Given the description of an element on the screen output the (x, y) to click on. 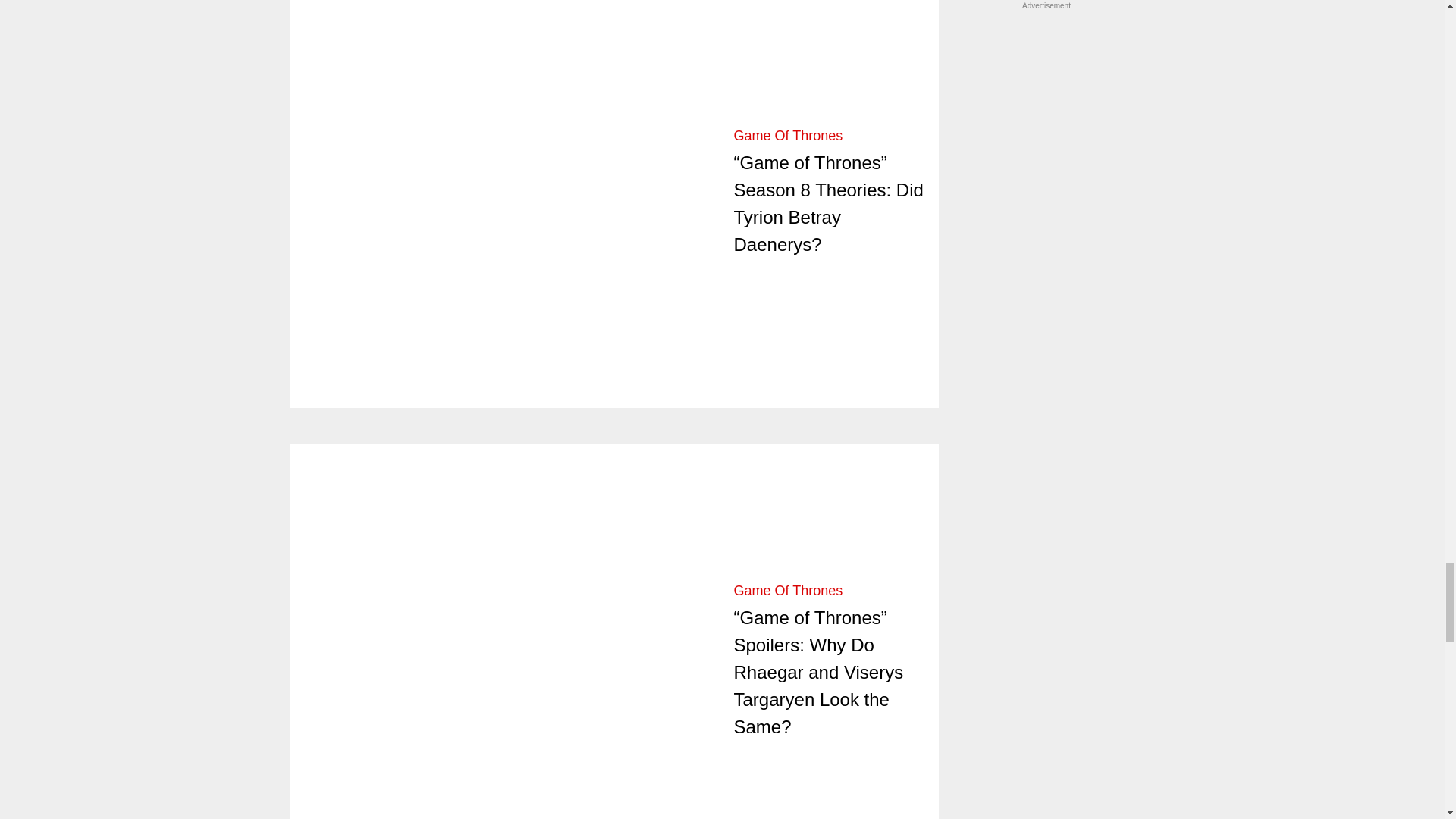
Category Name (788, 135)
Category Name (788, 590)
